Given the description of an element on the screen output the (x, y) to click on. 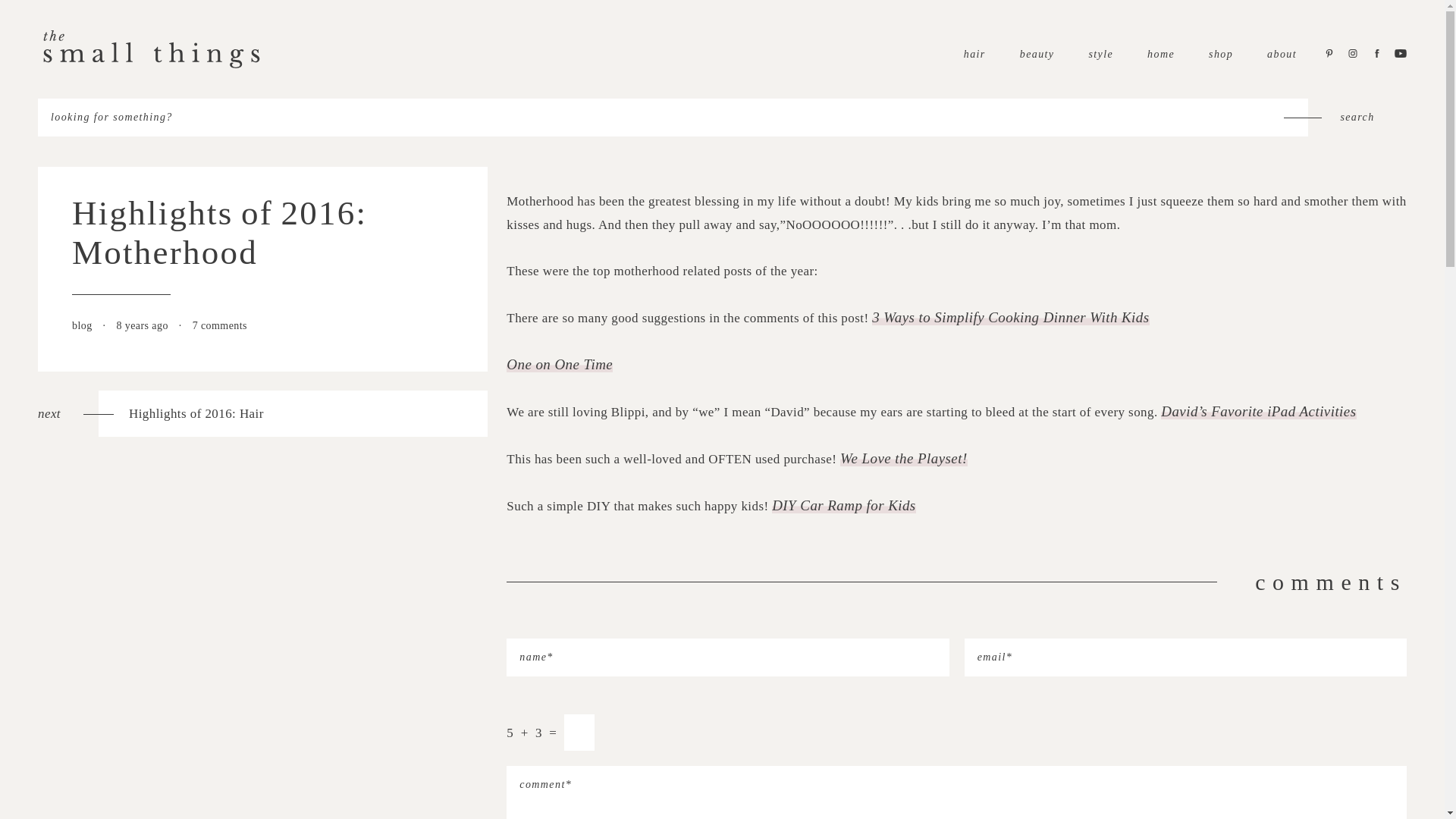
shop (1220, 53)
DIY Car Ramp for Kids (843, 505)
search (1356, 117)
about (1281, 53)
We Love the Playset! (904, 458)
style (1100, 53)
beauty (1037, 53)
hair (974, 53)
home (1160, 53)
search (1356, 117)
search (262, 413)
3 Ways to Simplify Cooking Dinner With Kids (1356, 117)
blog (1010, 317)
One on One Time (83, 325)
